Given the description of an element on the screen output the (x, y) to click on. 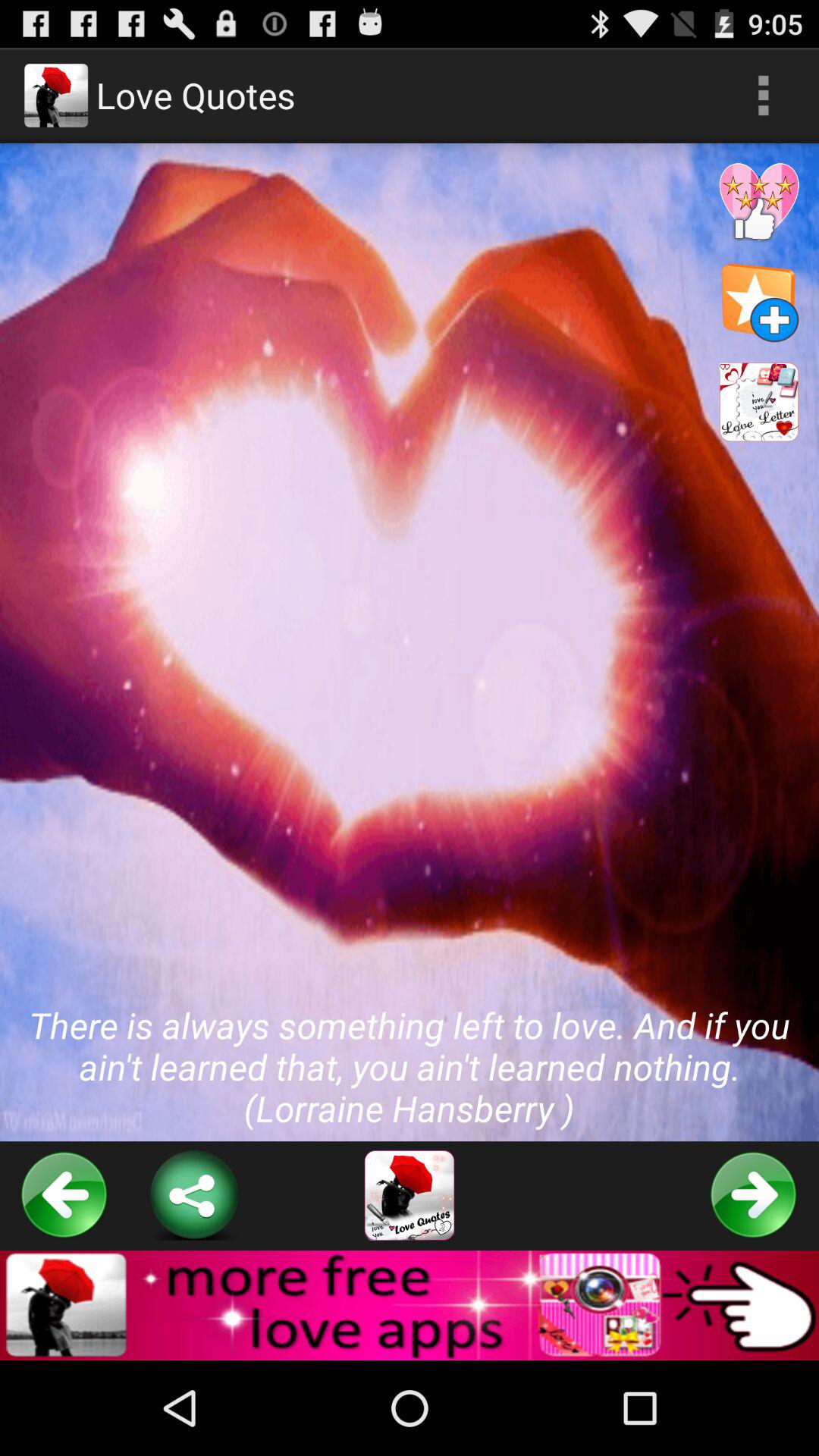
click the icon to the right of love quotes icon (763, 95)
